Given the description of an element on the screen output the (x, y) to click on. 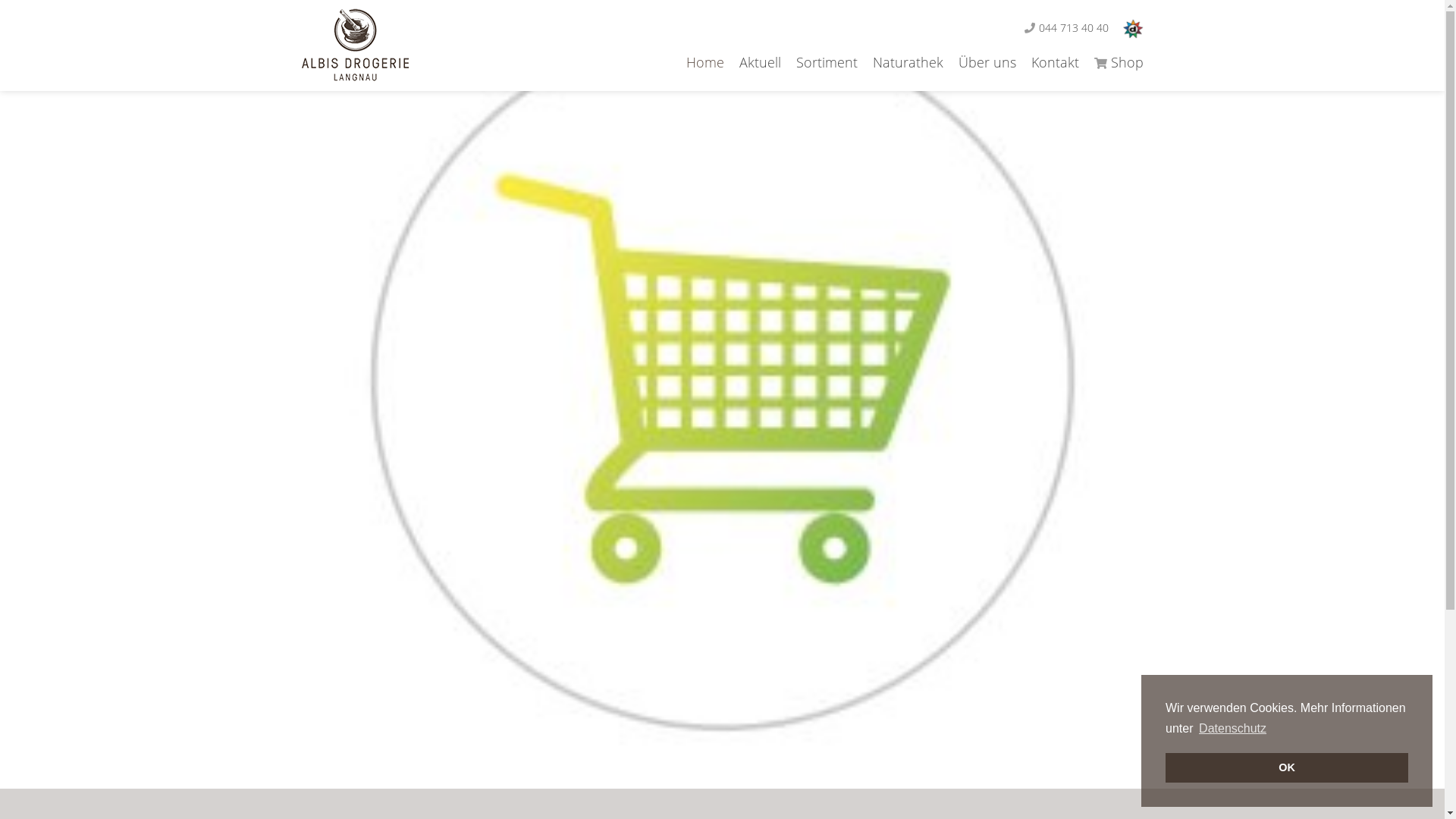
044 713 40 40 Element type: text (1072, 27)
Sortiment Element type: text (819, 62)
OK Element type: text (1286, 767)
Shop Element type: text (1110, 62)
Naturathek Element type: text (899, 62)
Kontakt Element type: text (1047, 62)
Aktuell Element type: text (751, 62)
Home Element type: text (696, 62)
Datenschutz Element type: text (1232, 728)
